Given the description of an element on the screen output the (x, y) to click on. 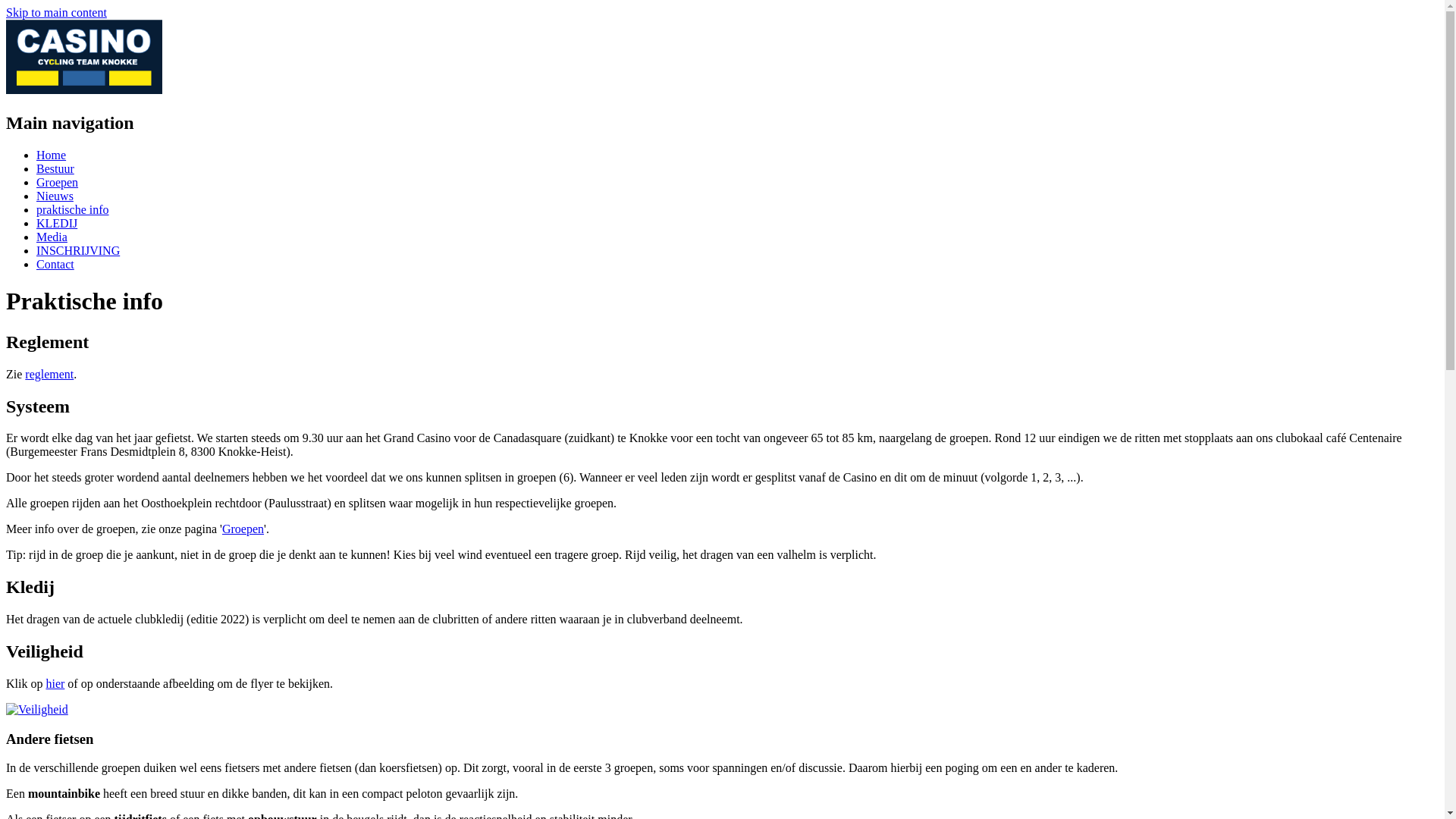
Skip to main content Element type: text (56, 12)
Groepen Element type: text (57, 181)
Groepen Element type: text (242, 528)
Bestuur Element type: text (55, 168)
KLEDIJ Element type: text (56, 222)
hier Element type: text (54, 683)
Media Element type: text (51, 236)
Home Element type: text (50, 154)
Nieuws Element type: text (54, 195)
Contact Element type: text (55, 263)
reglement Element type: text (49, 373)
INSCHRIJVING Element type: text (77, 250)
praktische info Element type: text (72, 209)
